Given the description of an element on the screen output the (x, y) to click on. 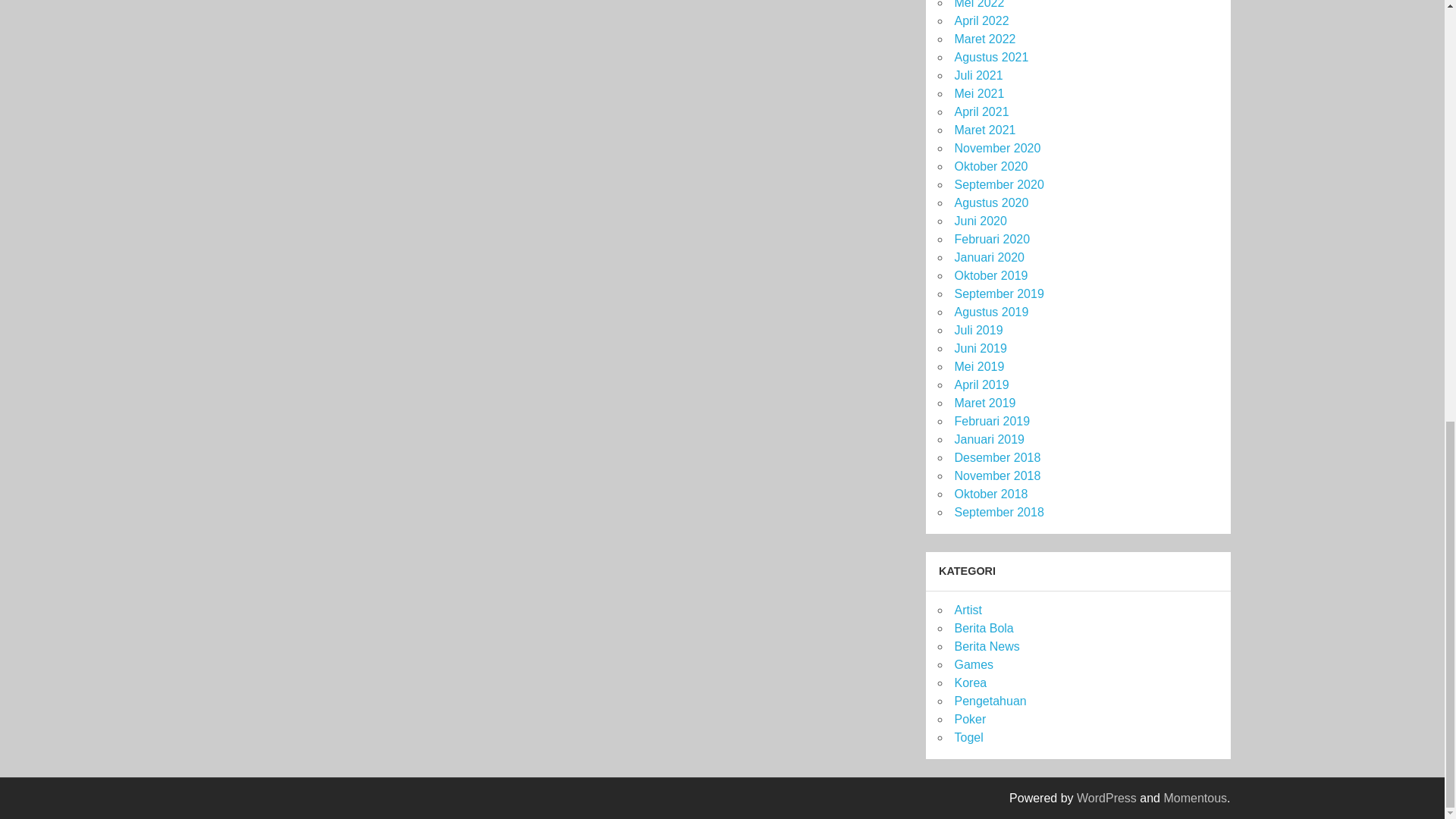
WordPress (1107, 797)
Momentous WordPress Theme (1195, 797)
